Given the description of an element on the screen output the (x, y) to click on. 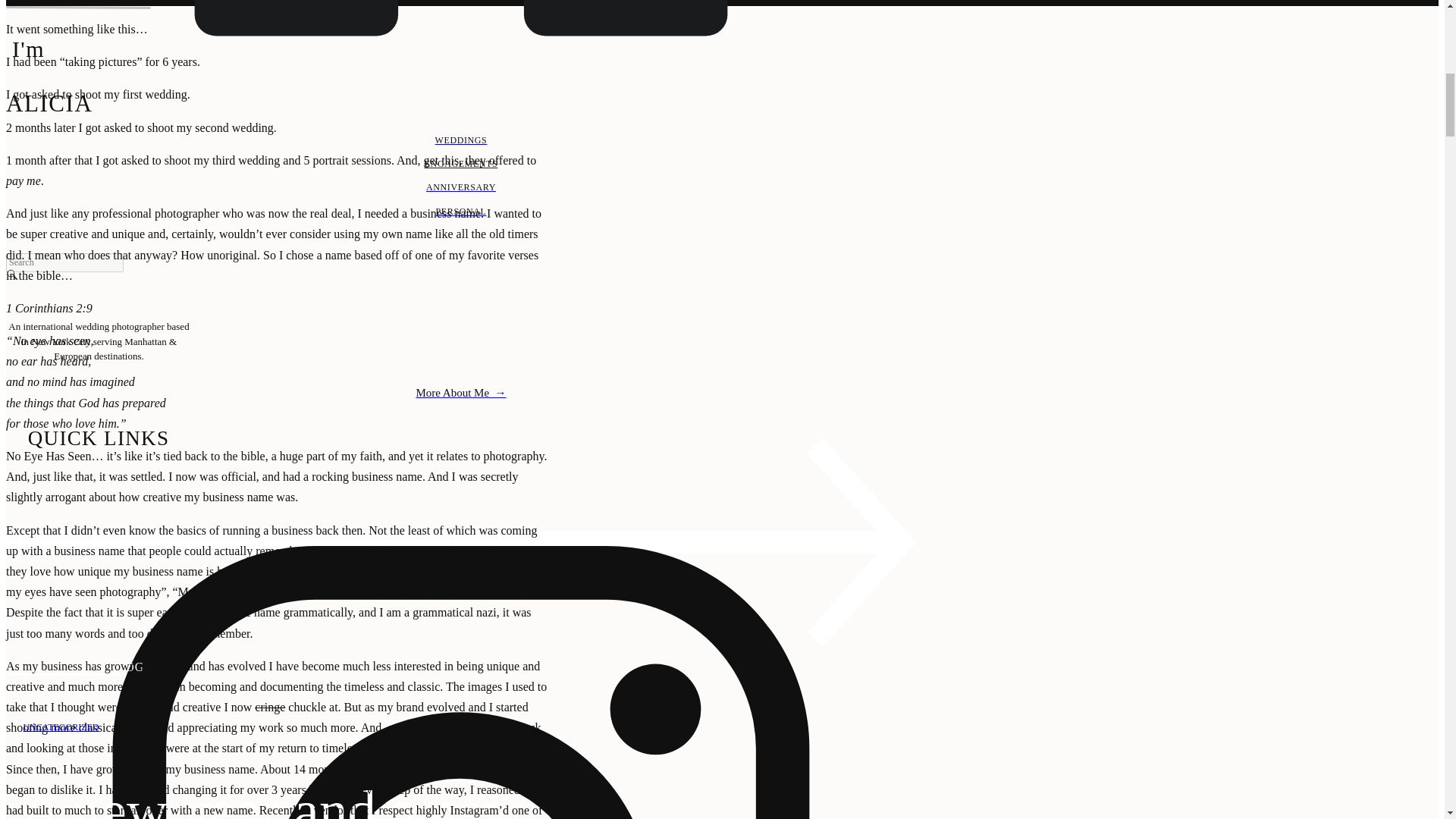
WEDDINGS (460, 140)
UNCATEGORIZED (61, 726)
ENGAGEMENTS (460, 164)
PERSONAL (460, 211)
ANNIVERSARY (460, 187)
